Given the description of an element on the screen output the (x, y) to click on. 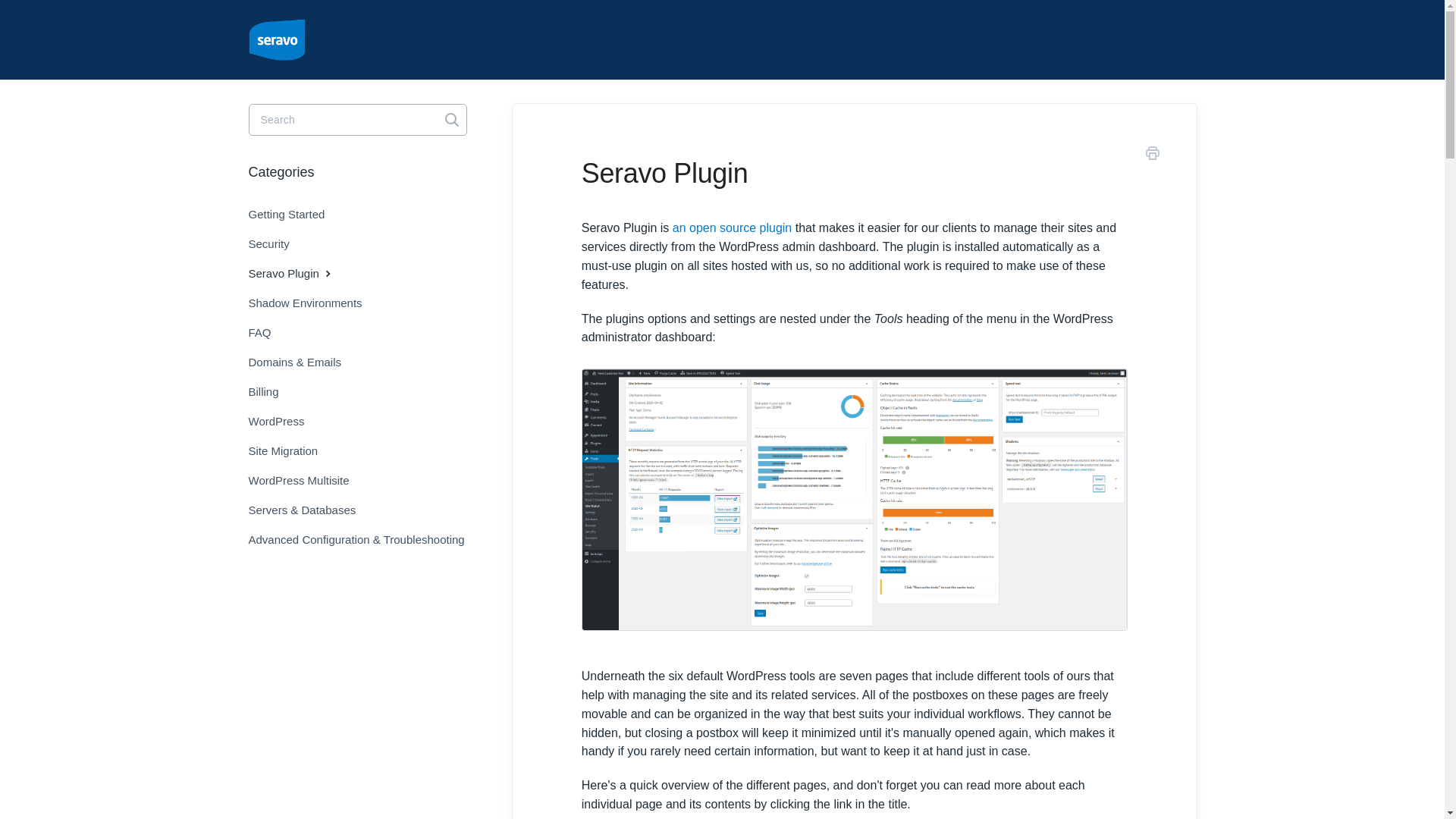
FAQ (265, 332)
Getting Started (292, 214)
Security (274, 243)
Toggle Search (451, 119)
Site Migration (289, 451)
an open source plugin (732, 227)
Shadow Environments (311, 302)
Billing (268, 391)
Seravo Plugin (297, 273)
WordPress (281, 420)
